Given the description of an element on the screen output the (x, y) to click on. 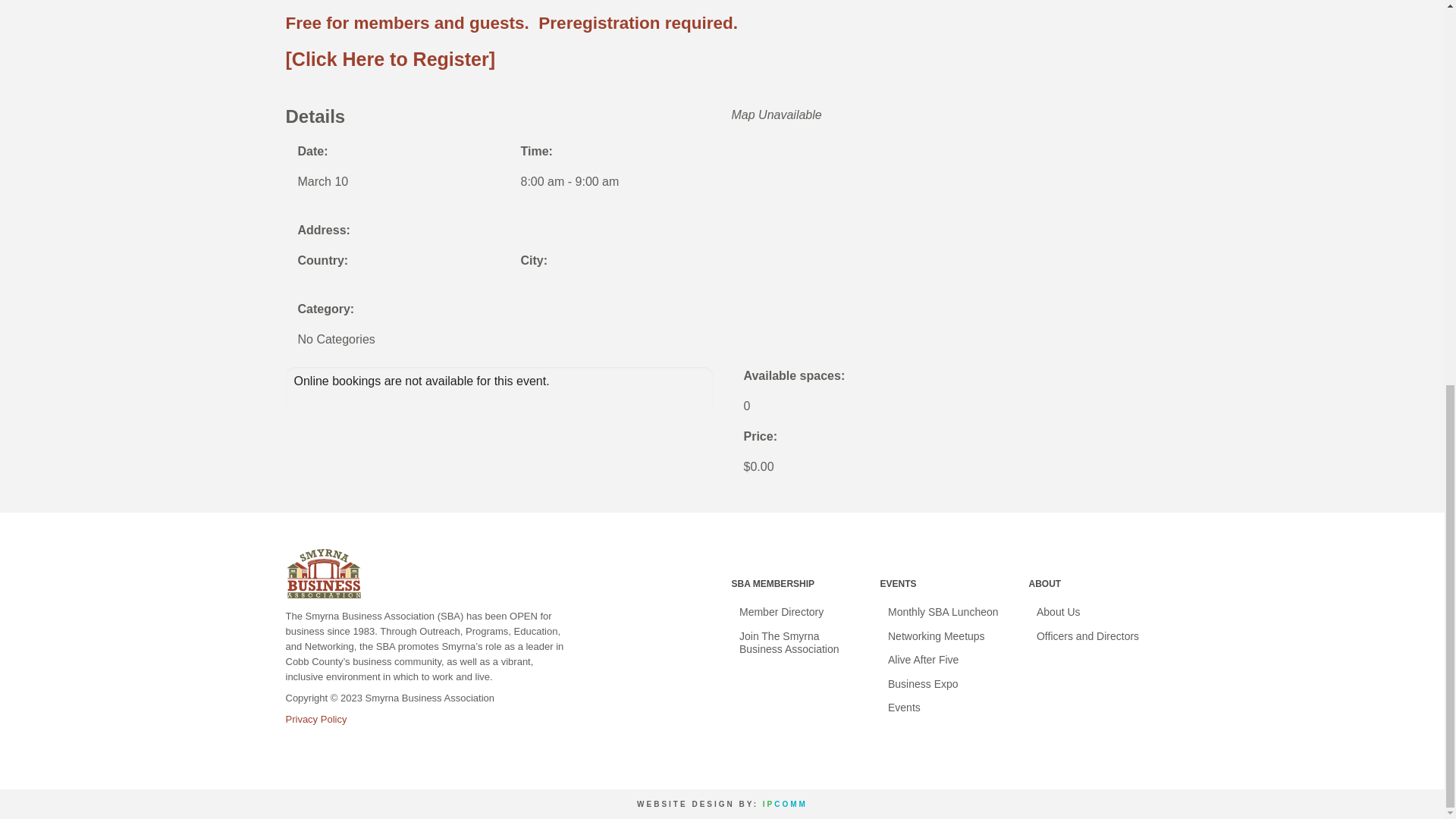
Member Directory (795, 612)
Business Expo (944, 684)
Join The Smyrna Business Association (795, 642)
Events (944, 708)
Monthly SBA Luncheon (944, 612)
Networking Meetups (944, 636)
Privacy Policy (315, 718)
Officers and Directors (1092, 636)
Alive After Five (944, 660)
About Us (1092, 612)
